Given the description of an element on the screen output the (x, y) to click on. 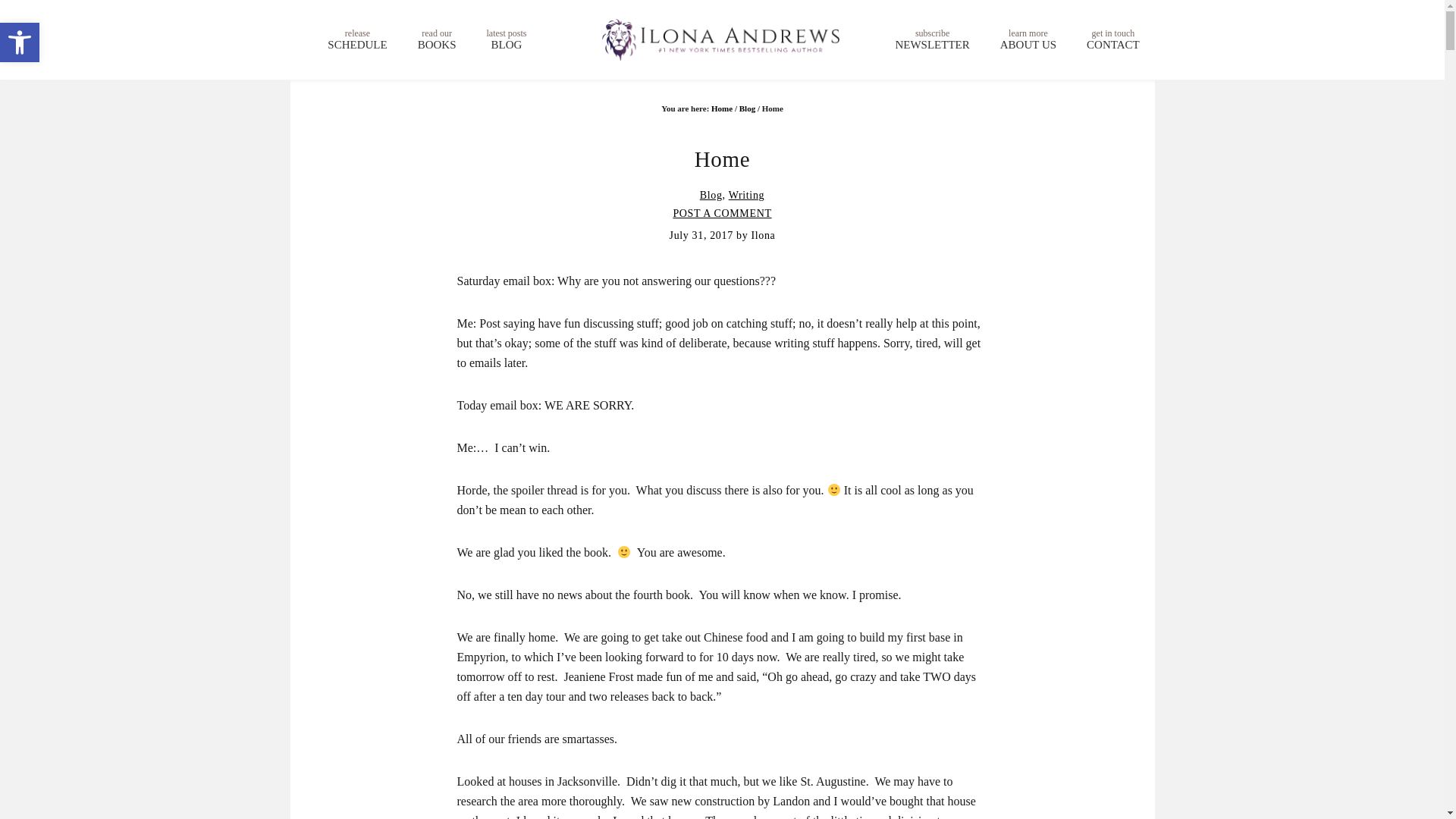
Accessibility Tools (932, 39)
Home (19, 42)
POST A COMMENT (19, 42)
Blog (357, 39)
Accessibility Tools (721, 108)
Skip to main content (1113, 39)
Blog (721, 213)
Writing (747, 108)
